Given the description of an element on the screen output the (x, y) to click on. 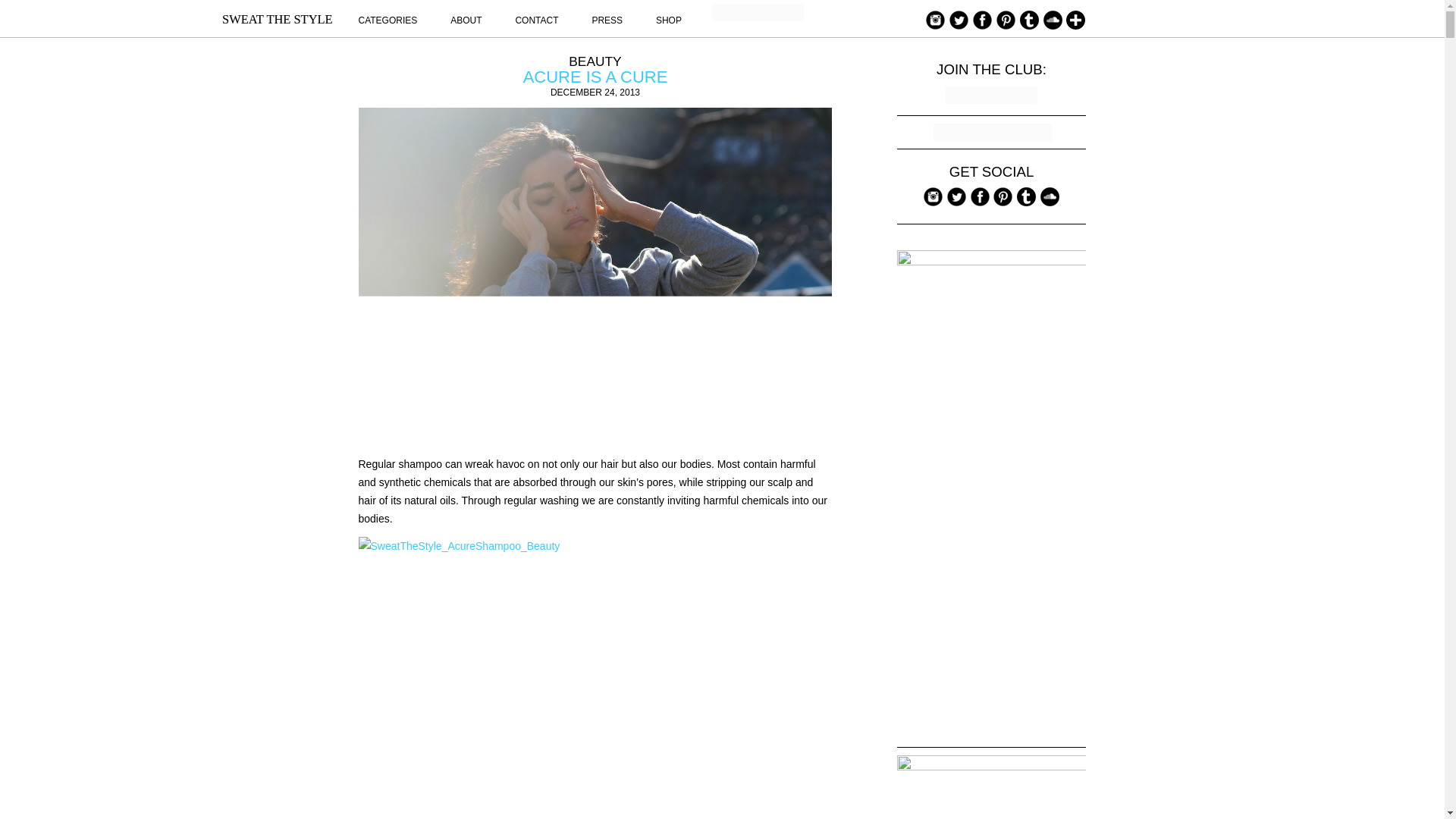
ABOUT (465, 20)
CATEGORIES (387, 20)
Skip to content (895, 9)
CONTACT (536, 20)
1:59 pm (595, 91)
Skip to content (895, 9)
PRESS (607, 20)
